Given the description of an element on the screen output the (x, y) to click on. 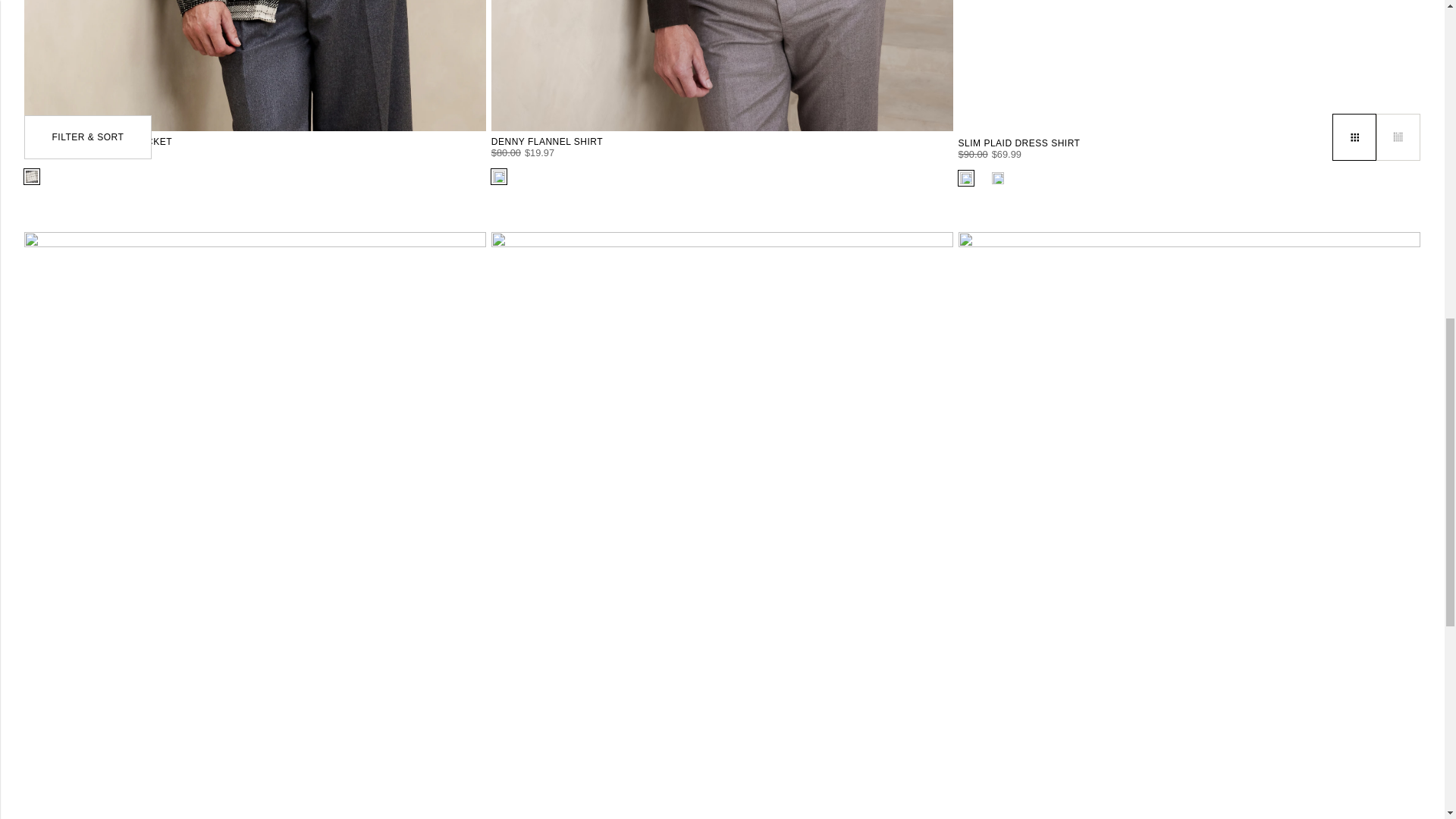
blue (965, 177)
beige (31, 176)
brown (499, 176)
multi (997, 177)
